Given the description of an element on the screen output the (x, y) to click on. 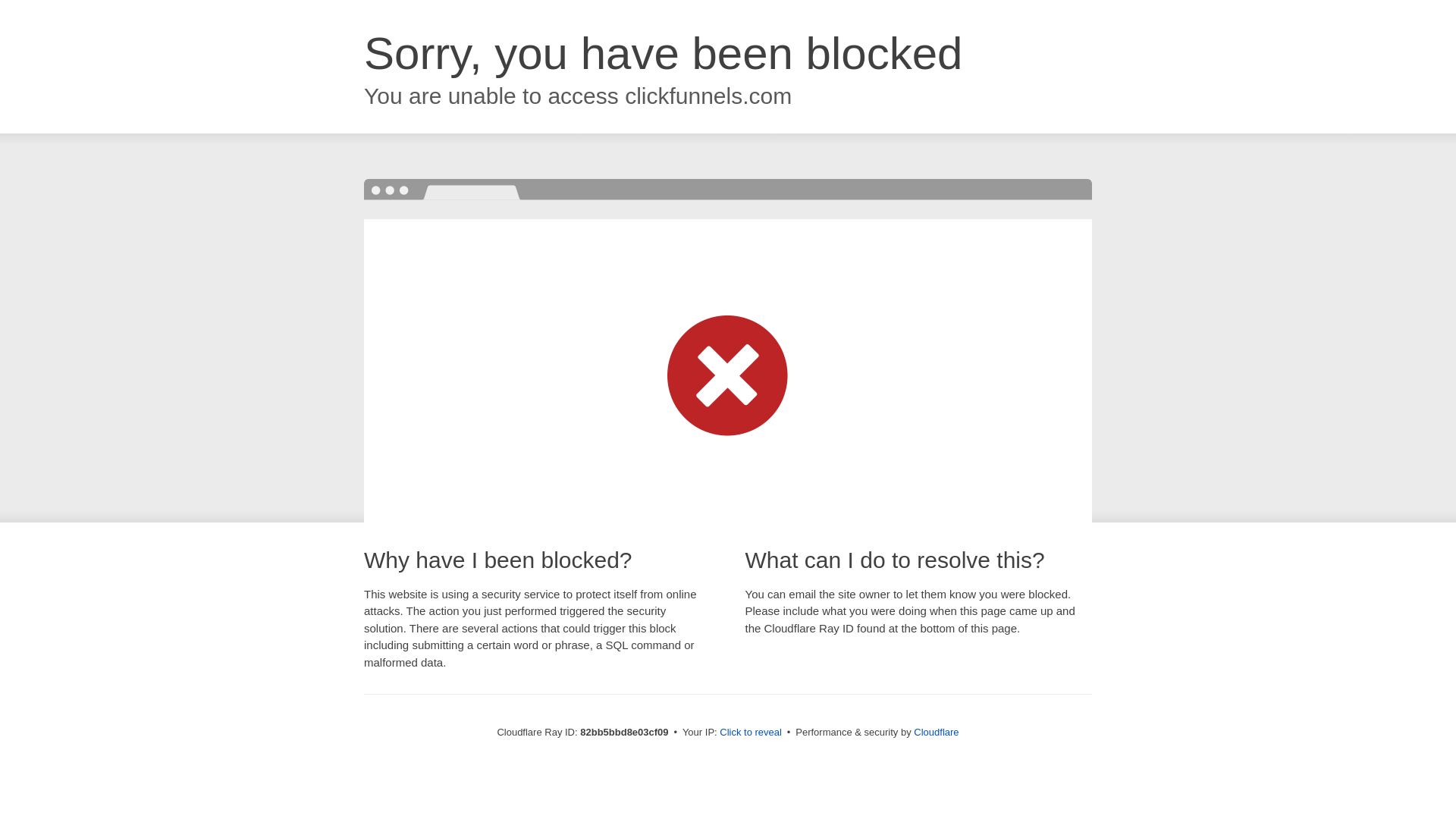
Cloudflare Element type: text (935, 731)
Click to reveal Element type: text (750, 732)
